Given the description of an element on the screen output the (x, y) to click on. 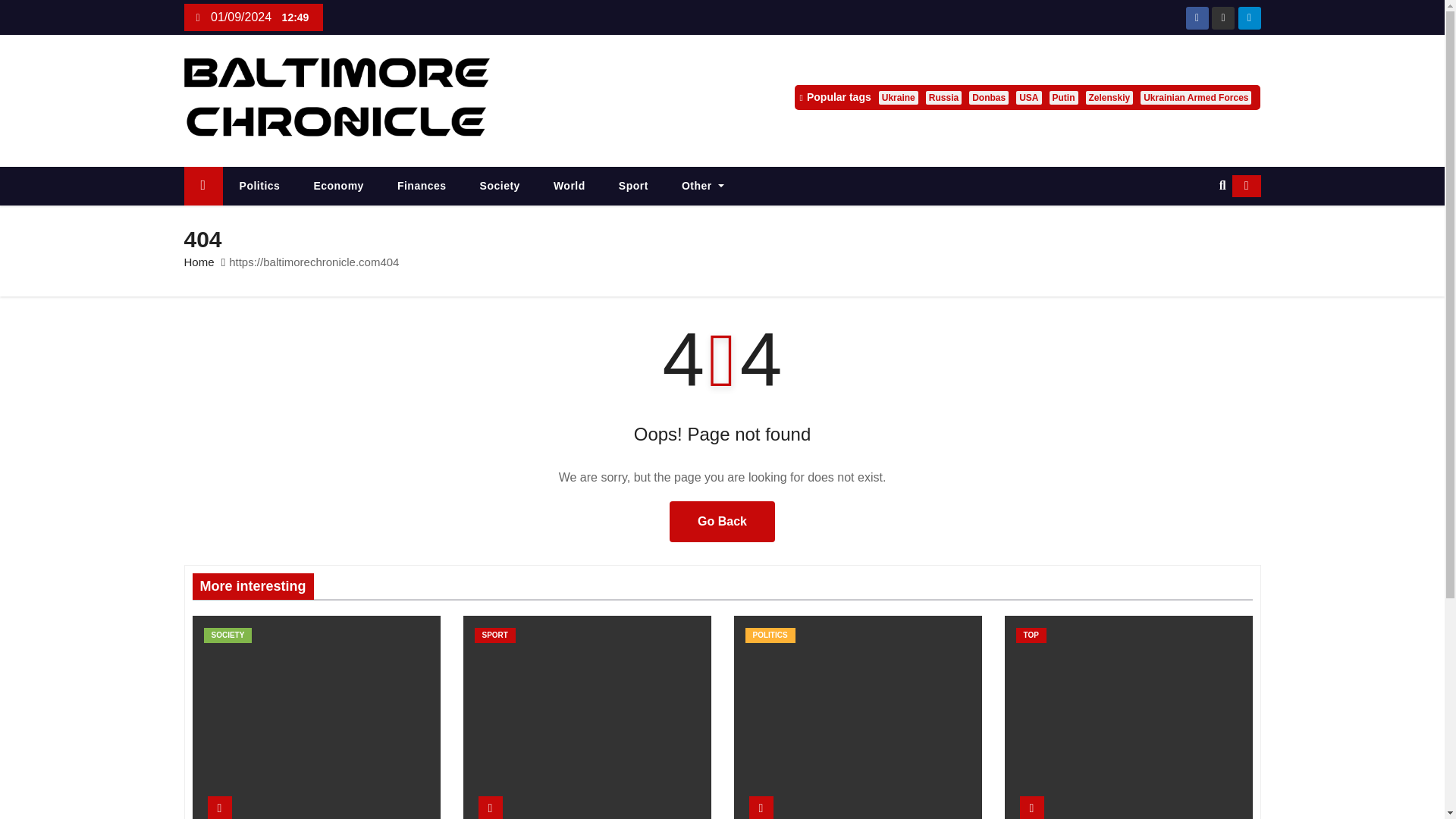
Society (500, 186)
World (569, 186)
Ukraine (898, 97)
Donbas (989, 97)
Home (202, 186)
Finances (421, 186)
Sport (633, 186)
World (569, 186)
Politics (259, 186)
Sport (633, 186)
